Given the description of an element on the screen output the (x, y) to click on. 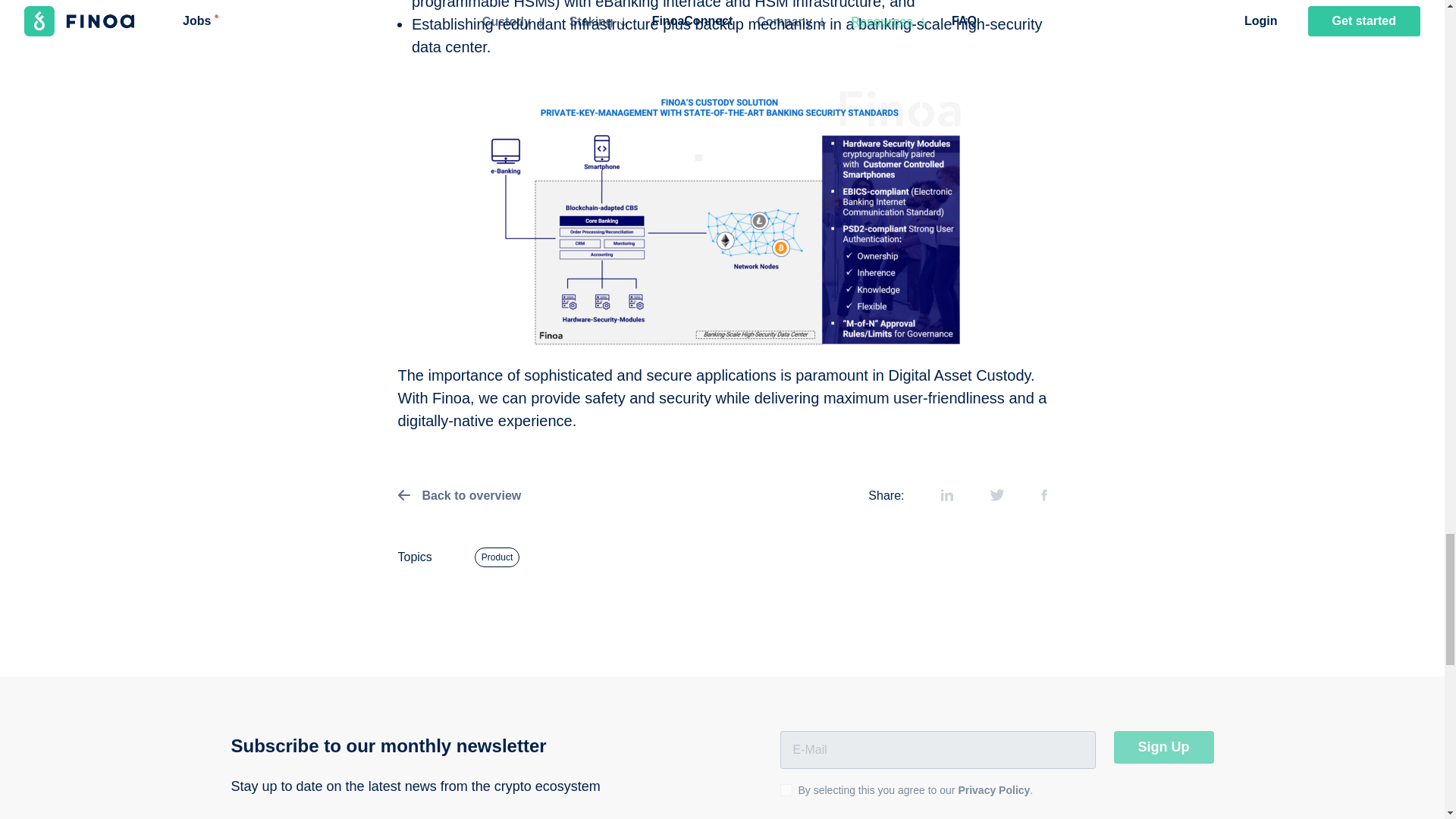
on (785, 789)
